Given the description of an element on the screen output the (x, y) to click on. 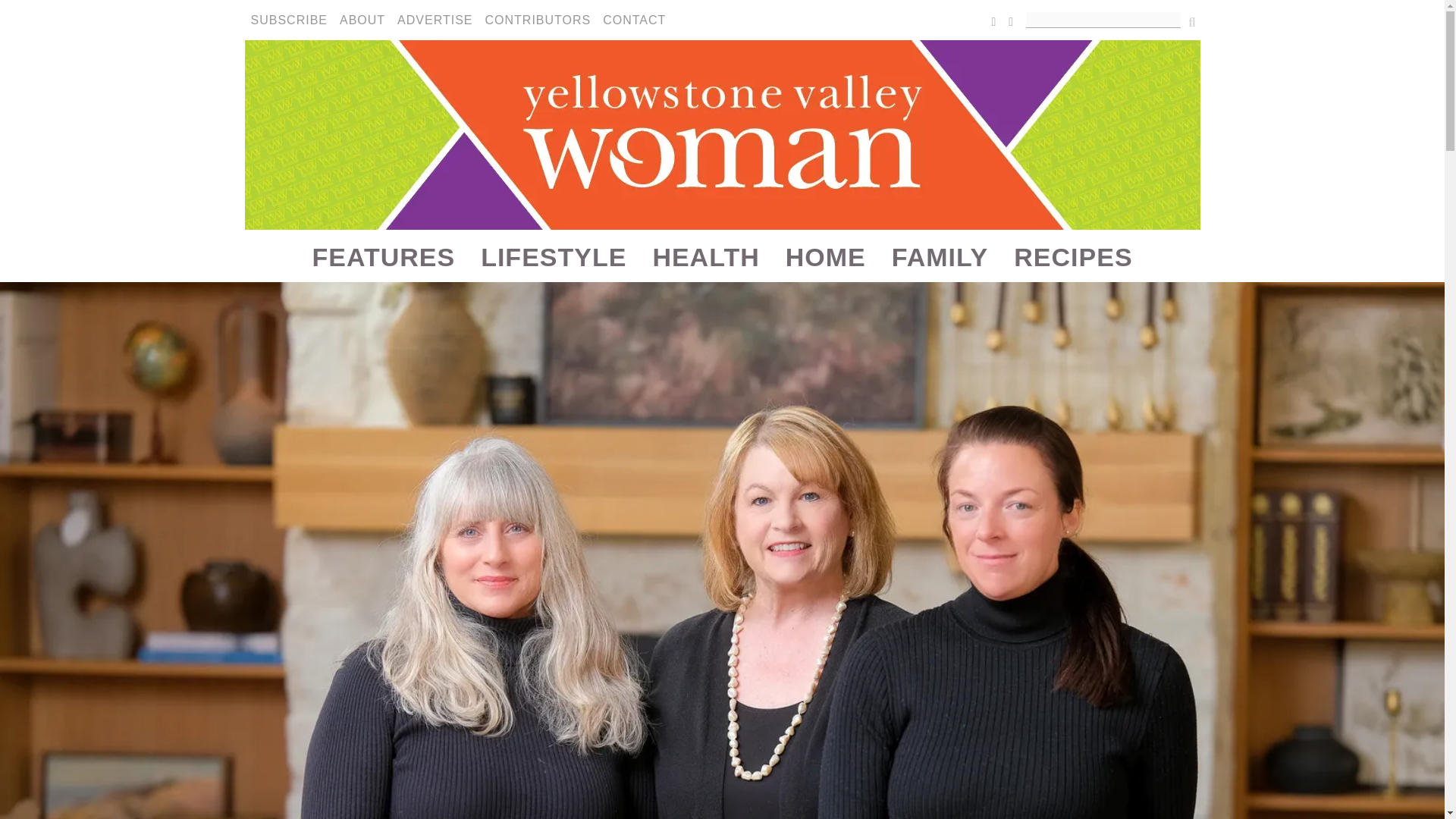
FAMILY (940, 257)
CONTRIBUTORS (537, 20)
HOME (826, 257)
ABOUT (362, 20)
LIFESTYLE (553, 257)
ADVERTISE (435, 20)
SUBSCRIBE (288, 20)
HEALTH (705, 257)
FEATURES (382, 257)
CONTACT (633, 20)
